Given the description of an element on the screen output the (x, y) to click on. 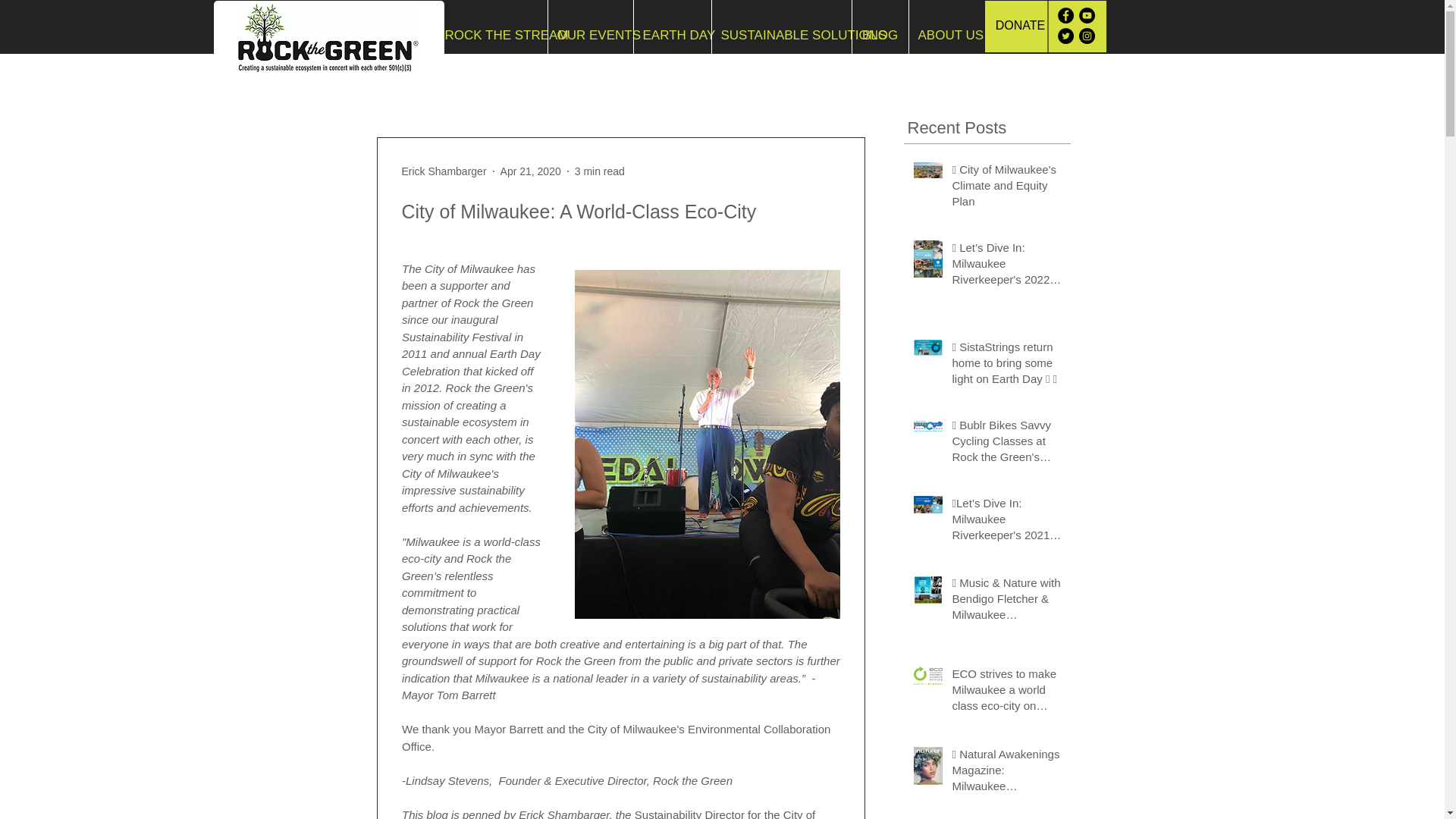
EARTH DAY (672, 35)
Erick Shambarger (443, 171)
3 min read (599, 171)
ROCK THE STREAM (491, 35)
Apr 21, 2020 (530, 171)
SUSTAINABLE SOLUTIONS (780, 35)
OUR EVENTS (589, 35)
